Given the description of an element on the screen output the (x, y) to click on. 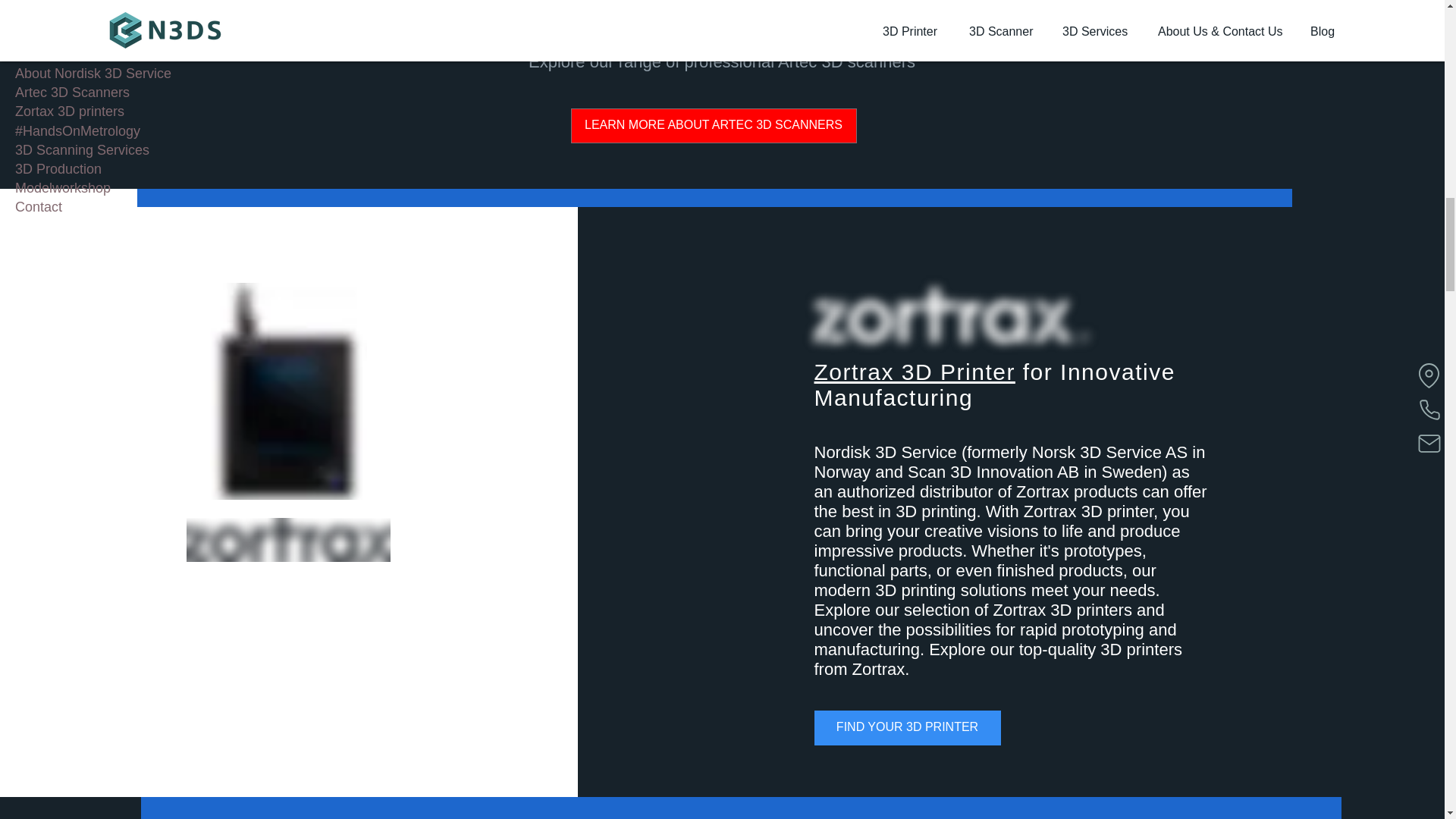
LEARN MORE ABOUT ARTEC 3D SCANNERS (713, 125)
Zortrax 3D Printer (913, 371)
FIND YOUR 3D PRINTER (907, 727)
